Given the description of an element on the screen output the (x, y) to click on. 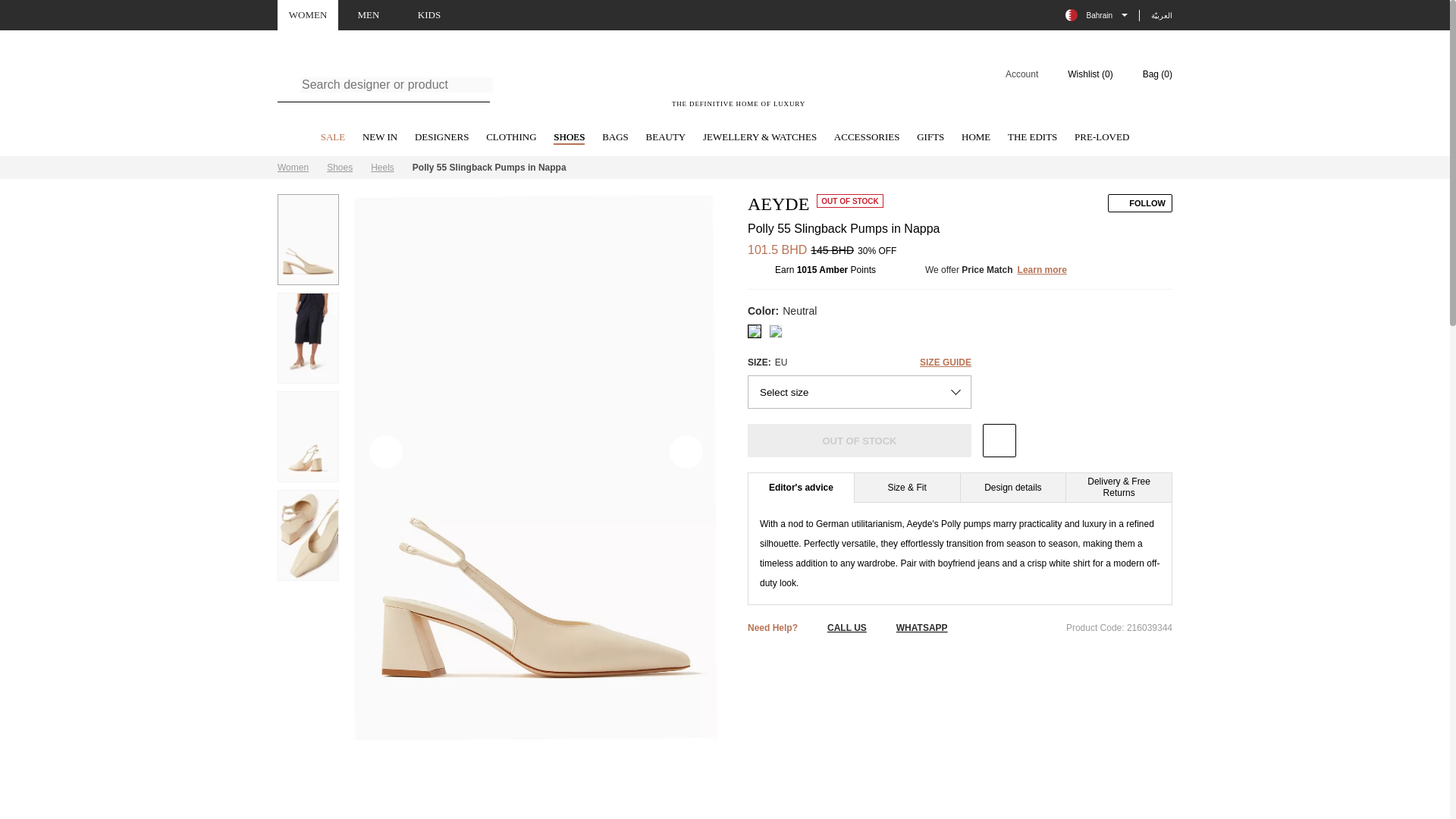
CLOTHING (510, 137)
MEN (367, 15)
Women (293, 167)
KIDS (429, 15)
BAGS (615, 137)
DESIGNERS (441, 137)
Bahrain (1096, 15)
THE EDITS (1032, 137)
ACCESSORIES (866, 137)
SALE (333, 137)
SHOES (569, 137)
PRE-LOVED (1101, 137)
Shoes (339, 167)
GIFTS (930, 137)
